Given the description of an element on the screen output the (x, y) to click on. 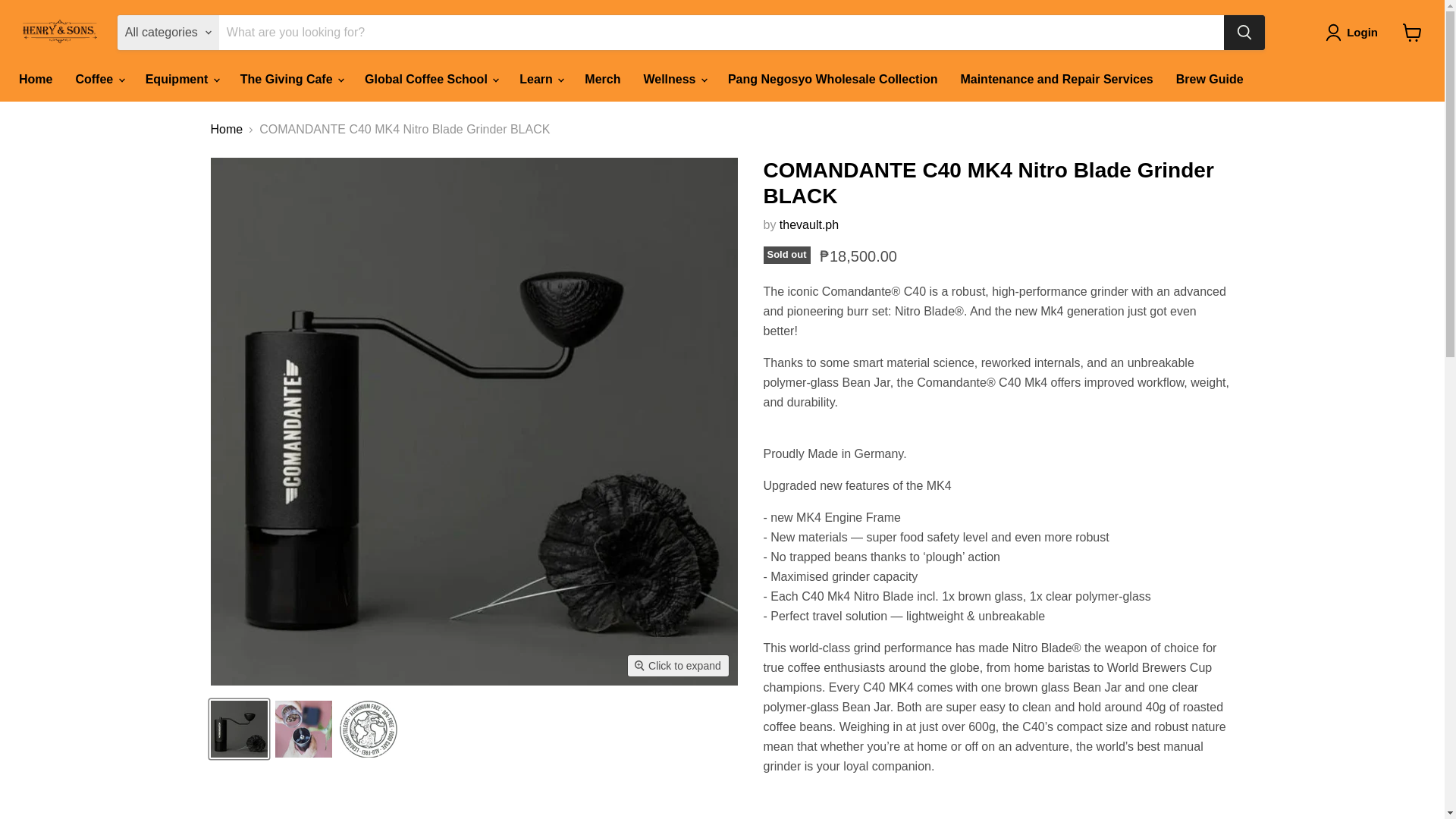
View cart (1411, 32)
Home (35, 79)
thevault.ph (808, 224)
Login (1354, 32)
